Given the description of an element on the screen output the (x, y) to click on. 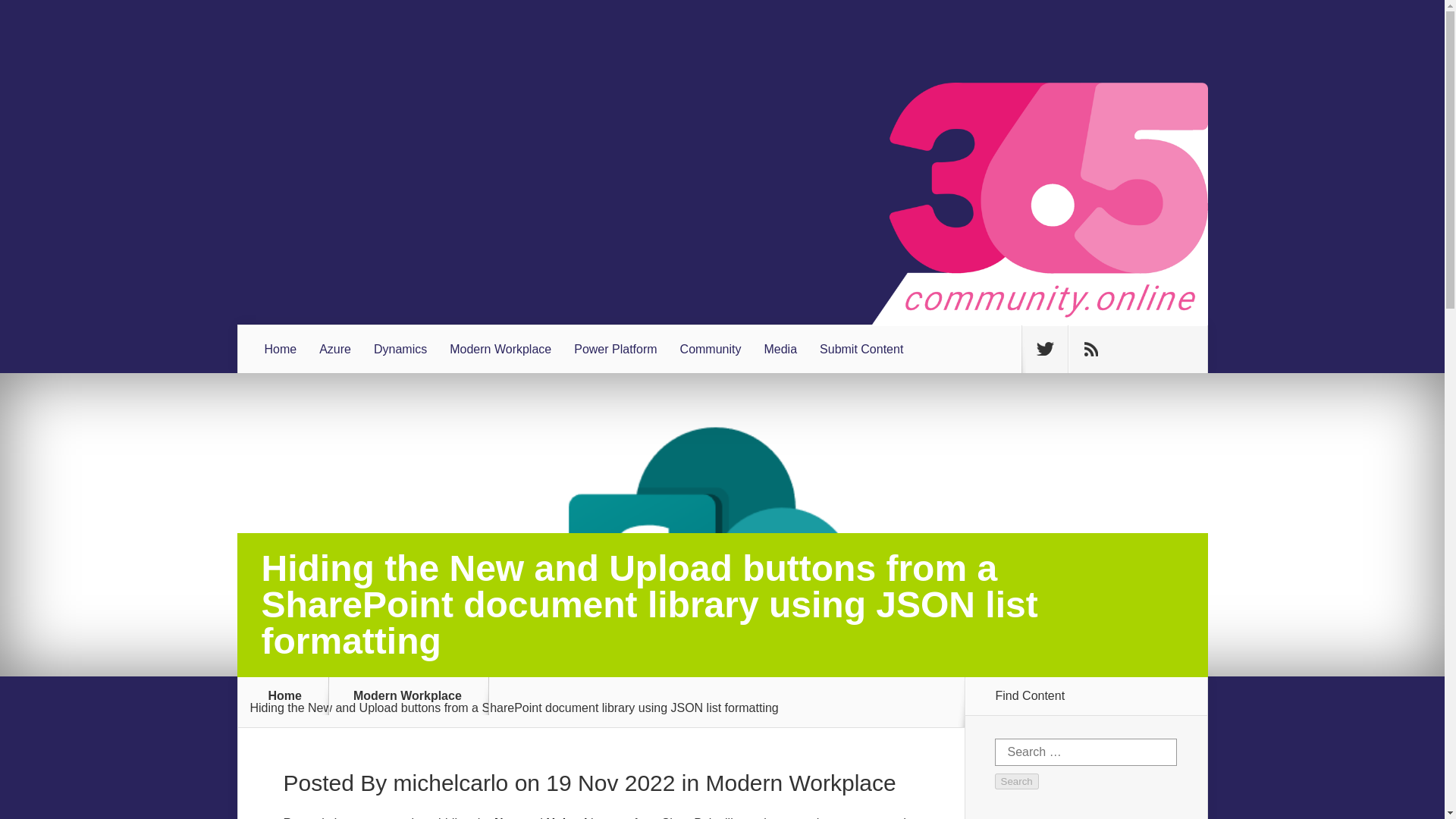
Search (1016, 781)
Subscribe To Rss Feed (1090, 349)
Submit Content (861, 349)
Follow us on Twitter (1044, 349)
Modern Workplace (799, 782)
Modern Workplace (416, 695)
Posts by michelcarlo (450, 782)
Home (285, 695)
Media (780, 349)
Community (710, 349)
